Given the description of an element on the screen output the (x, y) to click on. 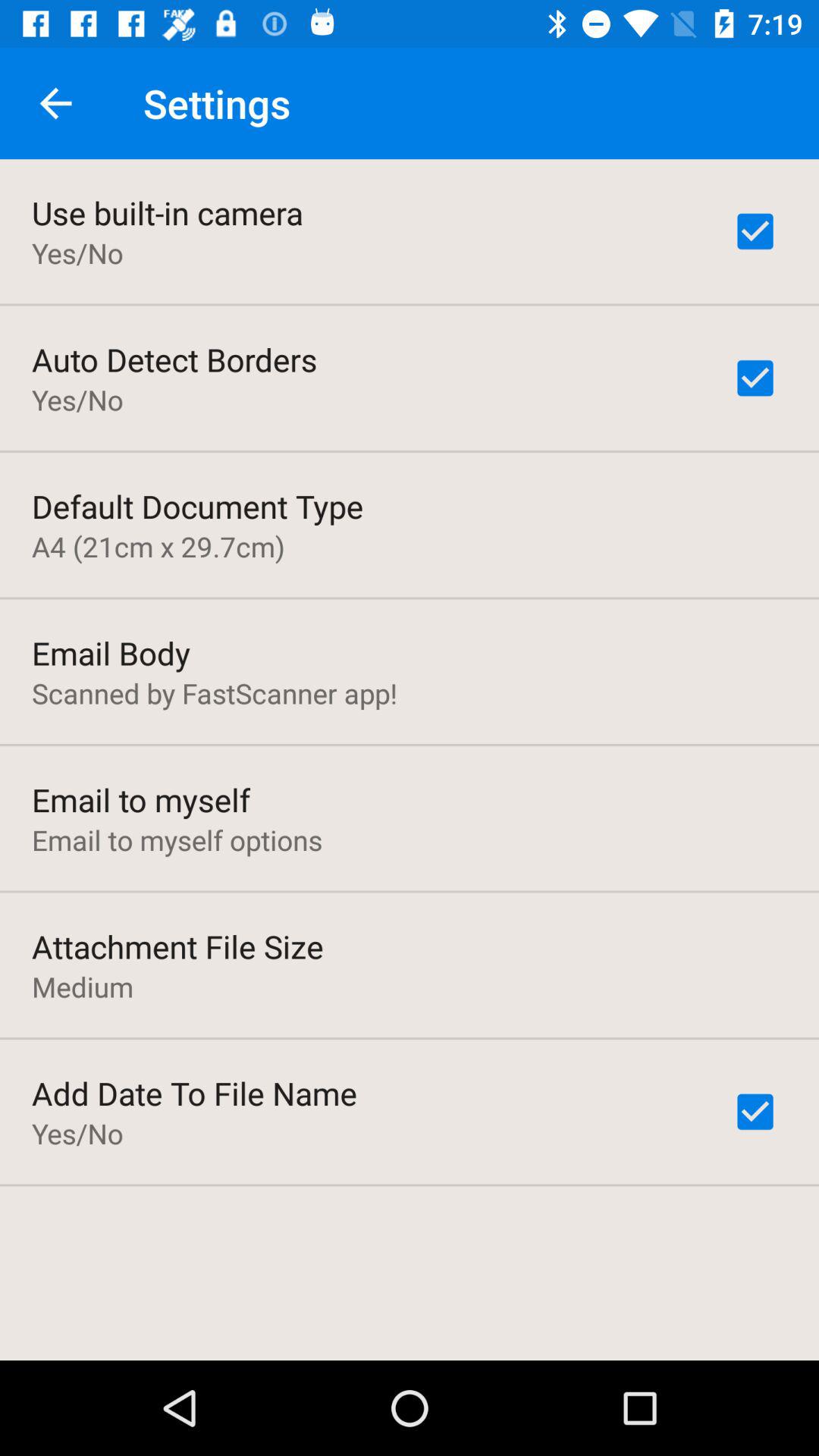
press item above the a4 21cm x (197, 505)
